Given the description of an element on the screen output the (x, y) to click on. 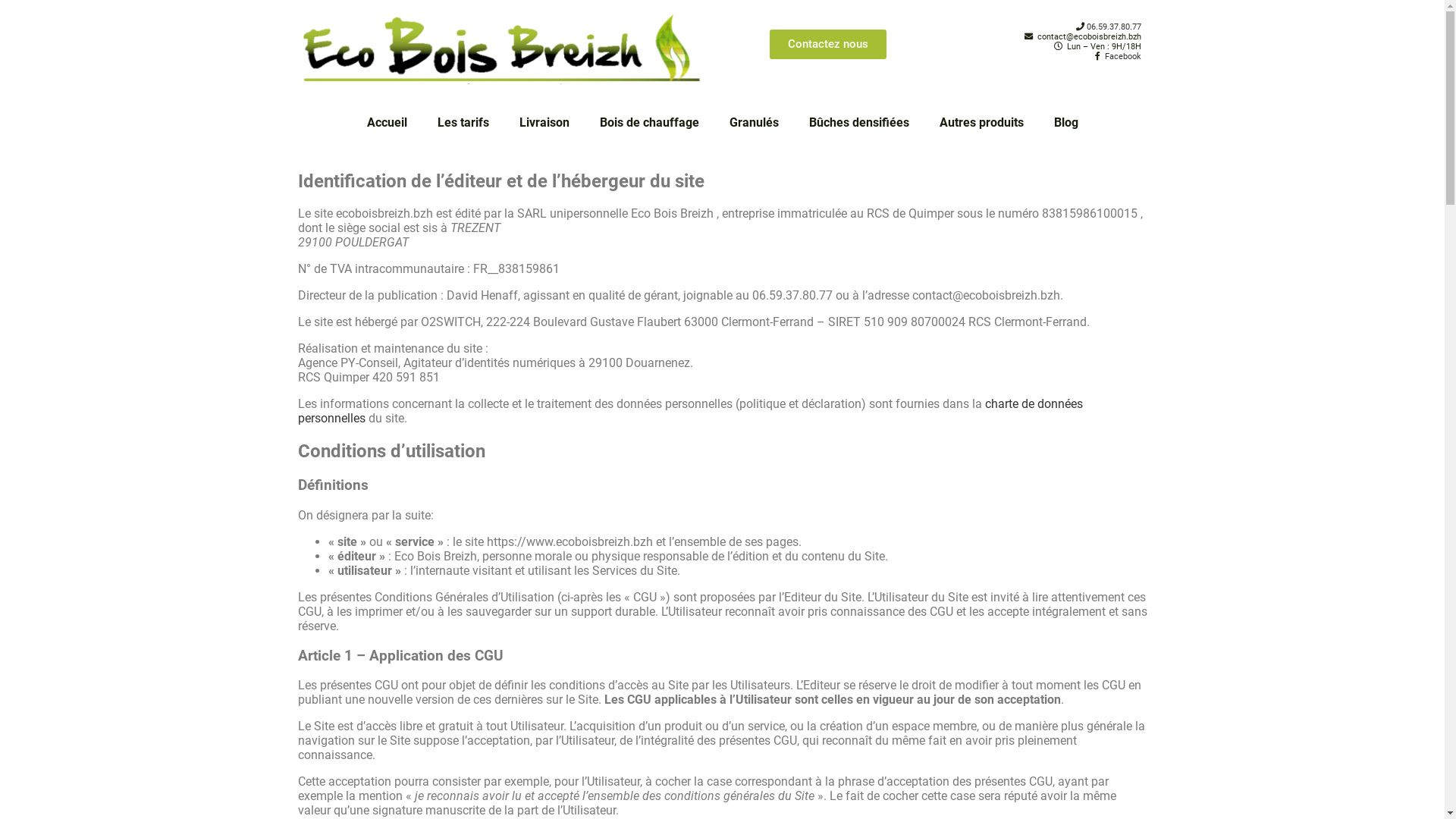
ecoboisbreizh-logo-site Element type: hover (502, 48)
Contactez nous Element type: text (827, 44)
06.59.37.80.77 Element type: text (1112, 26)
Blog Element type: text (1065, 122)
Bois de chauffage Element type: text (648, 122)
Autres produits Element type: text (980, 122)
Livraison Element type: text (543, 122)
Les tarifs Element type: text (462, 122)
Accueil Element type: text (386, 122)
Facebook Element type: text (1122, 56)
